Given the description of an element on the screen output the (x, y) to click on. 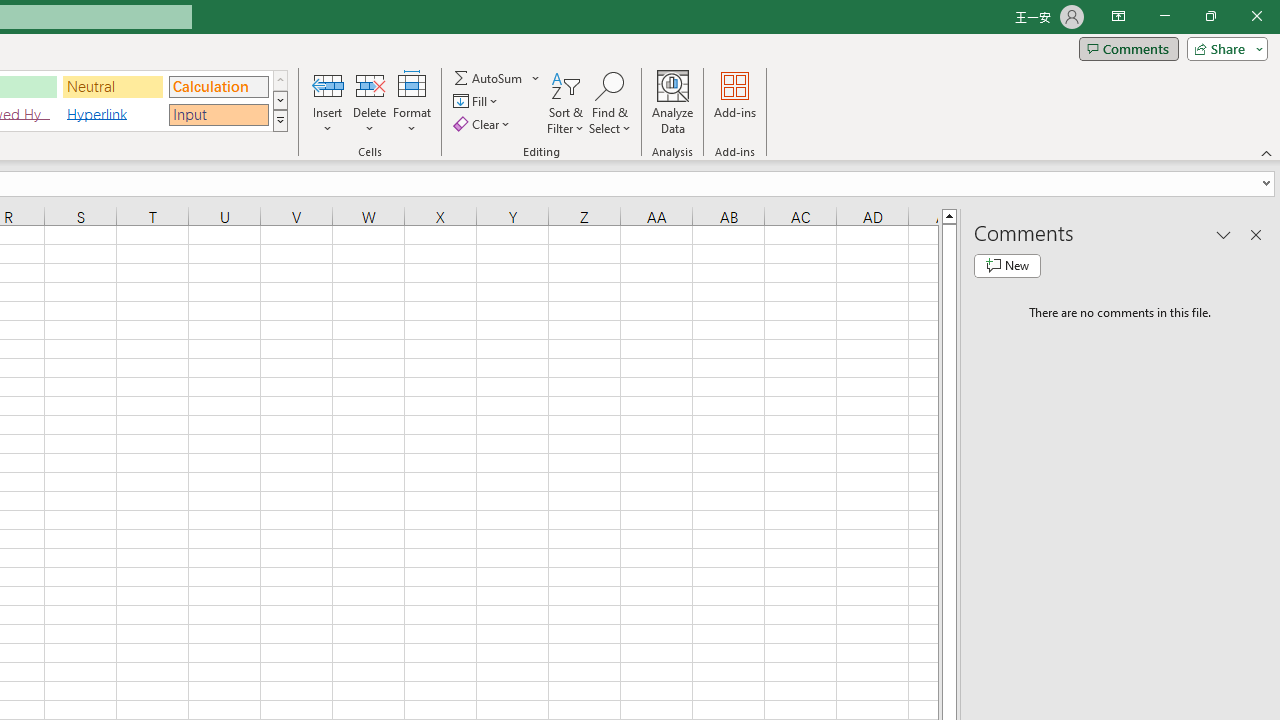
Insert Cells (328, 84)
Hyperlink (113, 114)
Calculation (218, 86)
New comment (1007, 265)
Cell Styles (280, 120)
Row Down (280, 100)
AutoSum (497, 78)
Delete Cells... (369, 84)
Row up (280, 79)
Class: NetUIImage (280, 120)
Clear (483, 124)
